Given the description of an element on the screen output the (x, y) to click on. 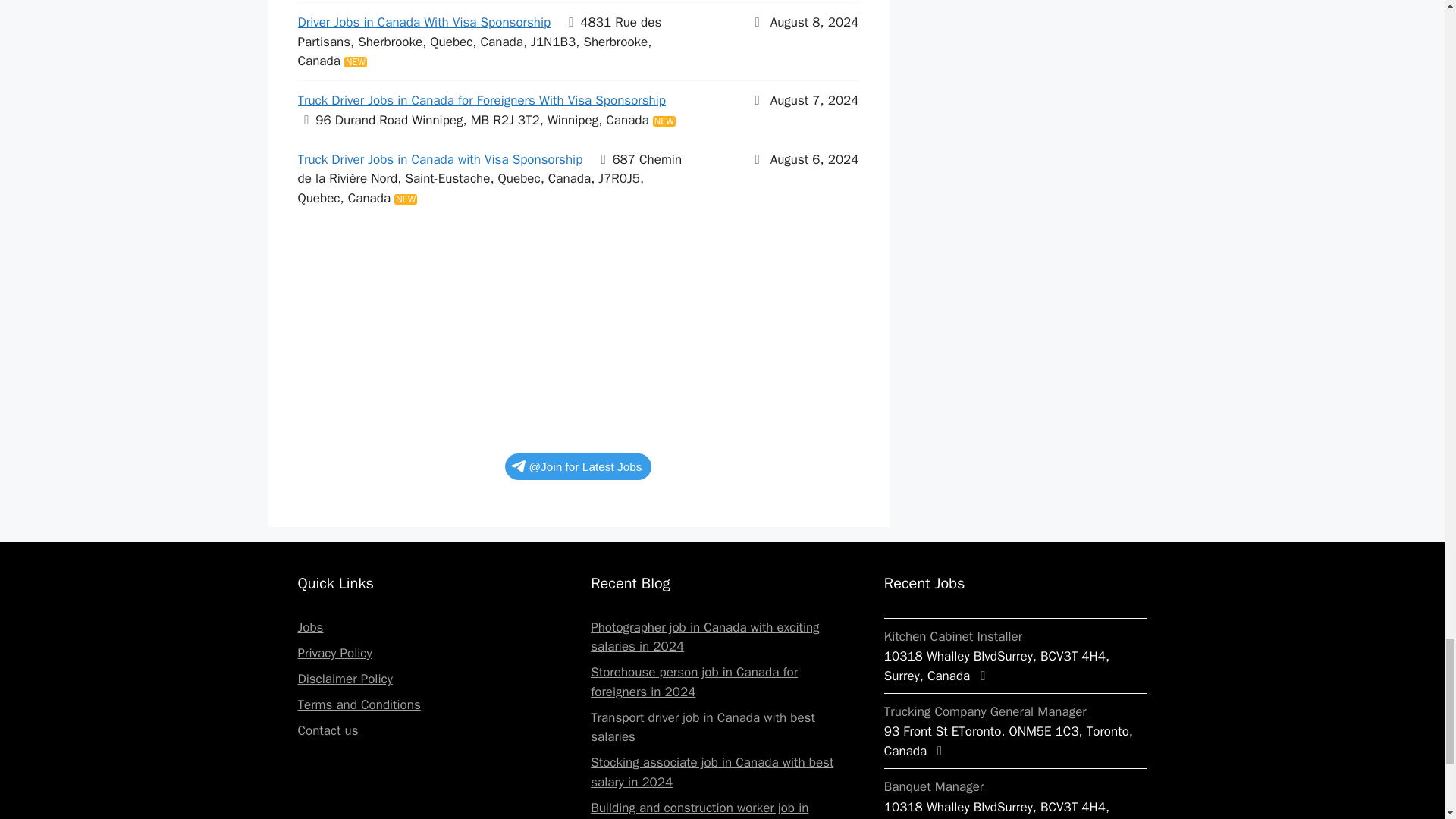
Privacy Policy (334, 652)
Driver Jobs in Canada With Visa Sponsorship (423, 22)
Jobs (310, 627)
Truck Driver Jobs in Canada with Visa Sponsorship (439, 159)
